Given the description of an element on the screen output the (x, y) to click on. 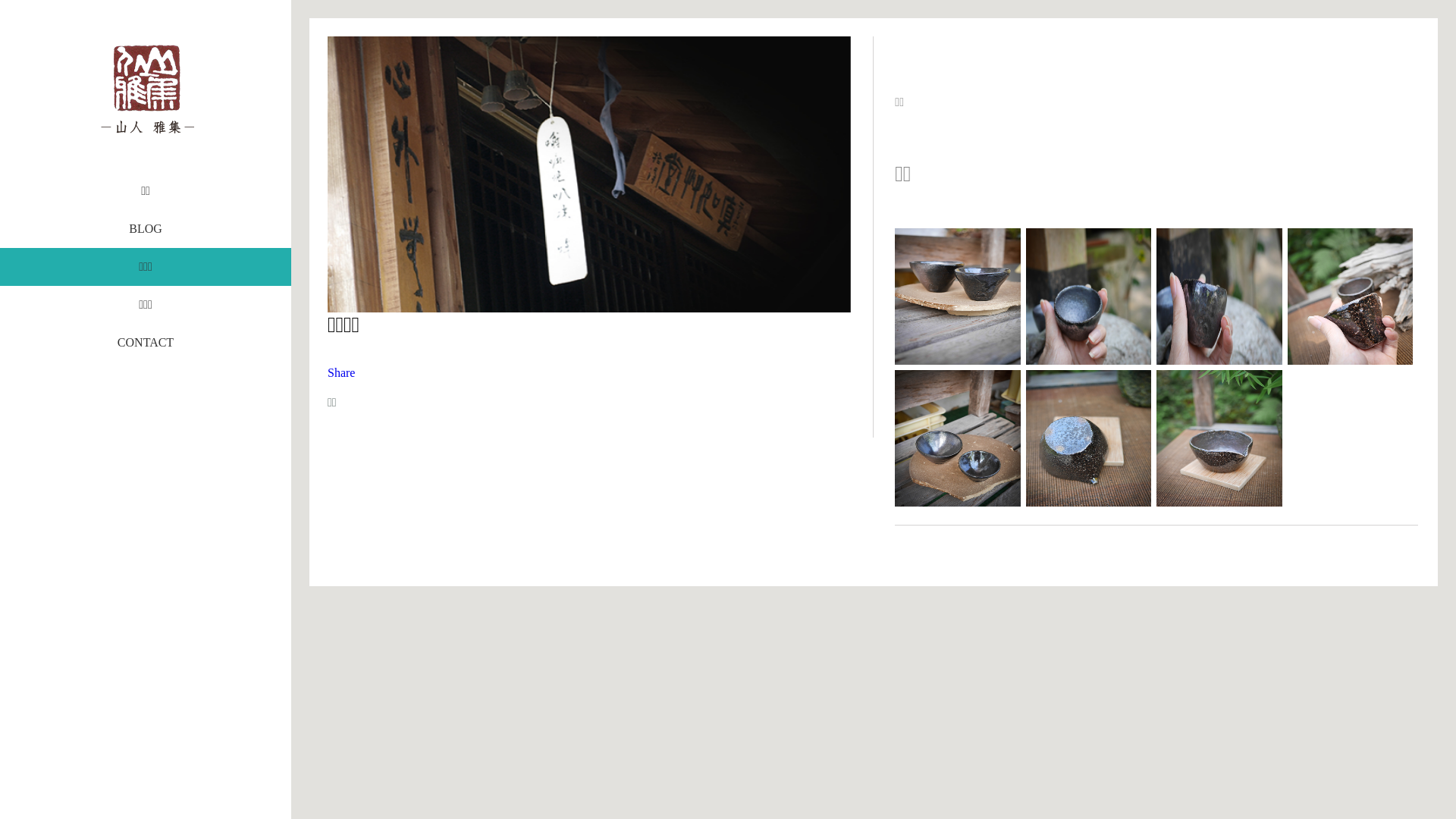
BLOG Element type: text (145, 228)
CONTACT Element type: text (145, 342)
Share Element type: text (340, 372)
